Given the description of an element on the screen output the (x, y) to click on. 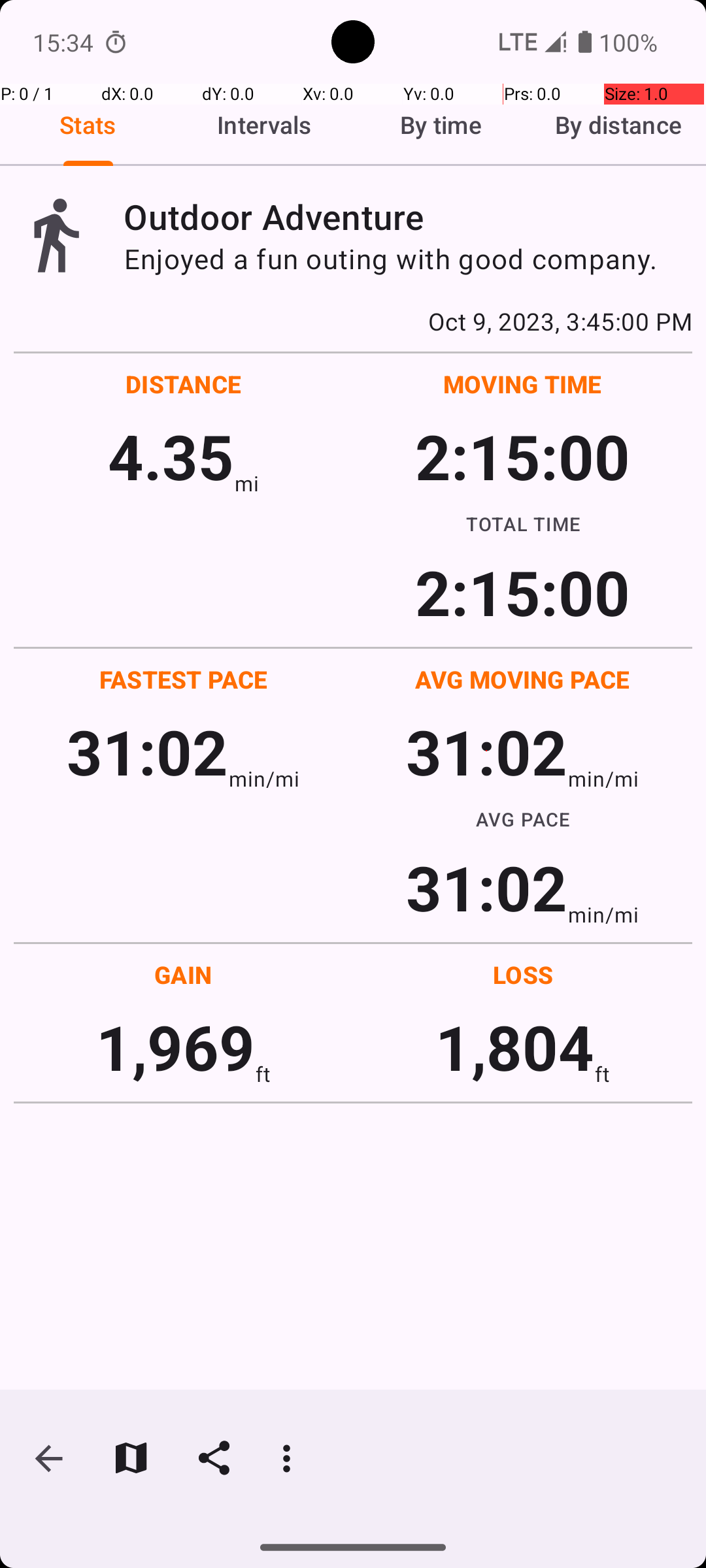
Outdoor Adventure Element type: android.widget.TextView (407, 216)
Enjoyed a fun outing with good company. Element type: android.widget.TextView (407, 258)
Oct 9, 2023, 3:45:00 PM Element type: android.widget.TextView (352, 320)
4.35 Element type: android.widget.TextView (170, 455)
2:15:00 Element type: android.widget.TextView (522, 455)
31:02 Element type: android.widget.TextView (147, 750)
1,969 Element type: android.widget.TextView (175, 1045)
1,804 Element type: android.widget.TextView (514, 1045)
